Given the description of an element on the screen output the (x, y) to click on. 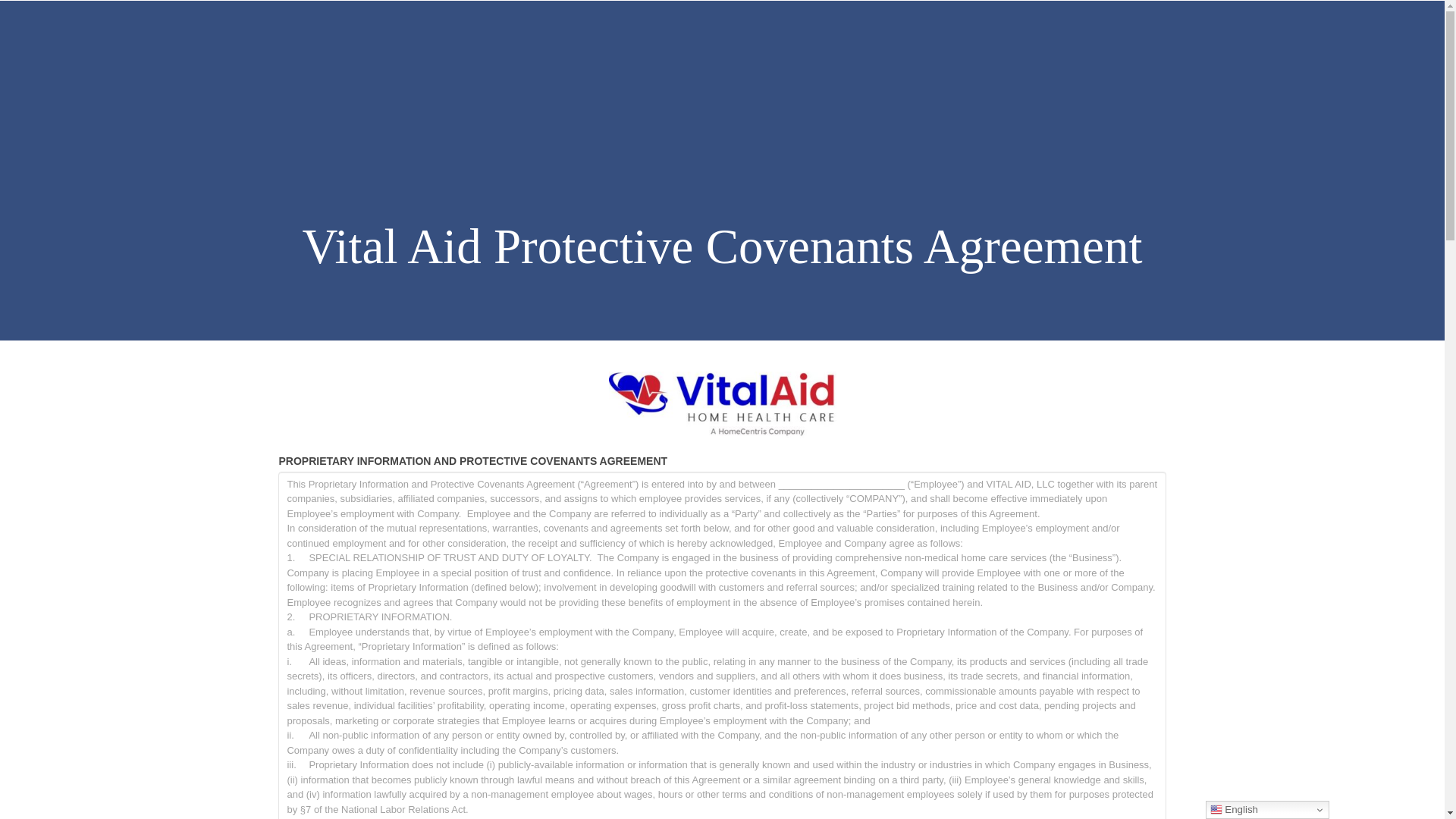
LARGE VITAL AID LOGO WITH HOMECENTRIS (721, 404)
English (1267, 809)
